Given the description of an element on the screen output the (x, y) to click on. 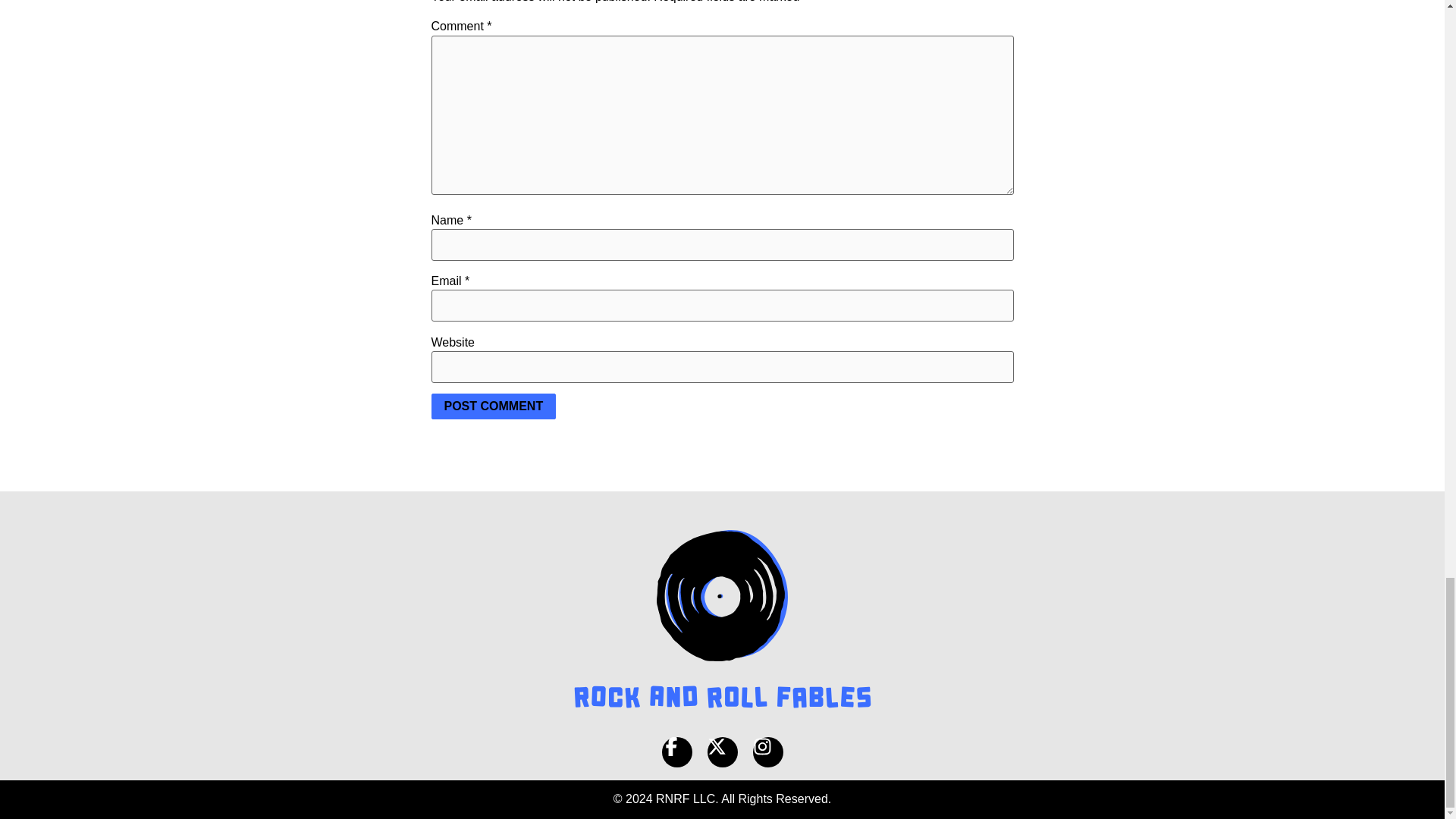
Post Comment (493, 406)
Post Comment (493, 406)
